Given the description of an element on the screen output the (x, y) to click on. 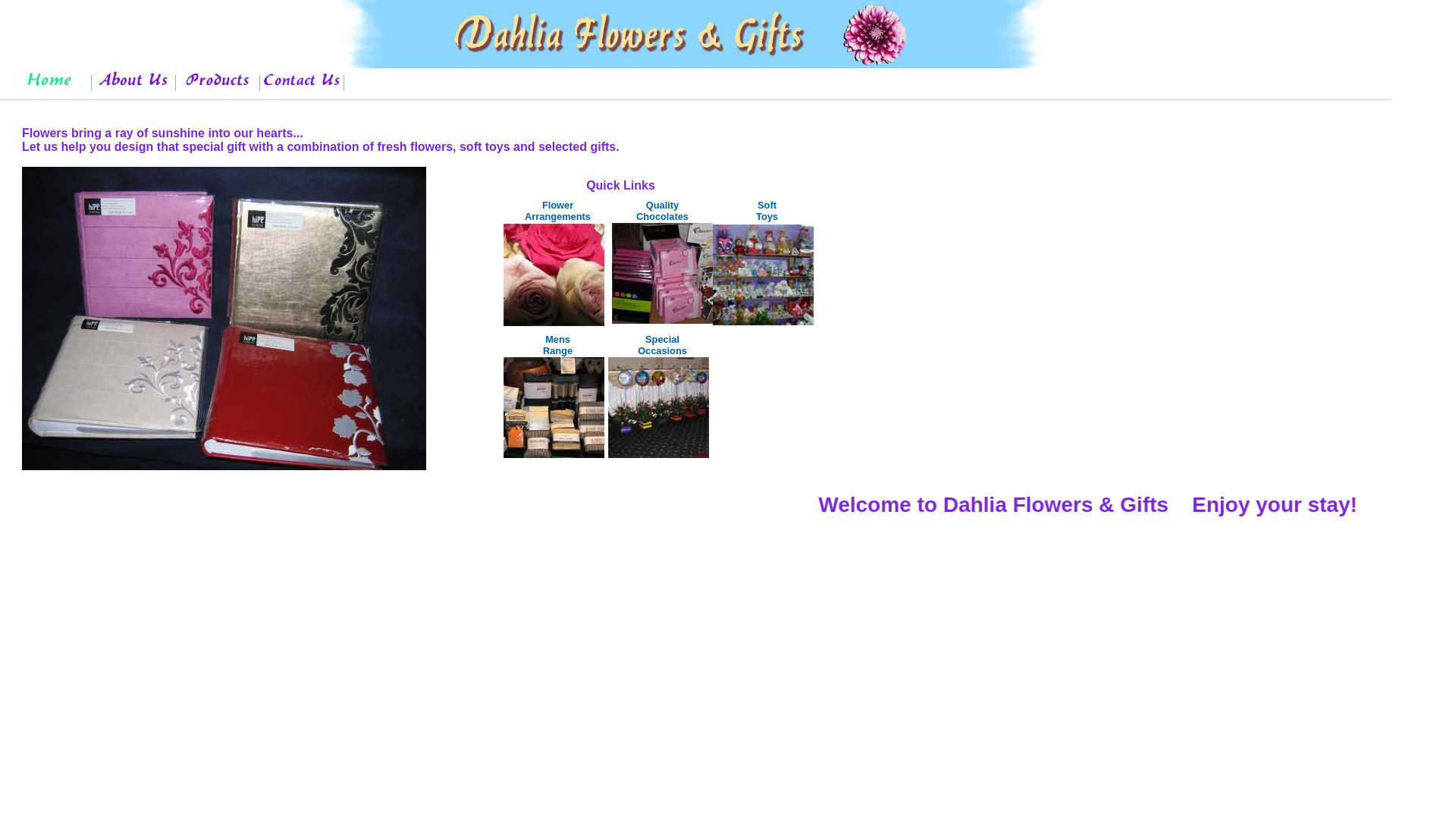
Flower
Arrangements Element type: text (557, 210)
Soft
Toys Element type: text (767, 210)
Special
Occasions Element type: text (662, 344)
Quality
Chocolates Element type: text (662, 210)
Mens
Range Element type: text (557, 344)
